Given the description of an element on the screen output the (x, y) to click on. 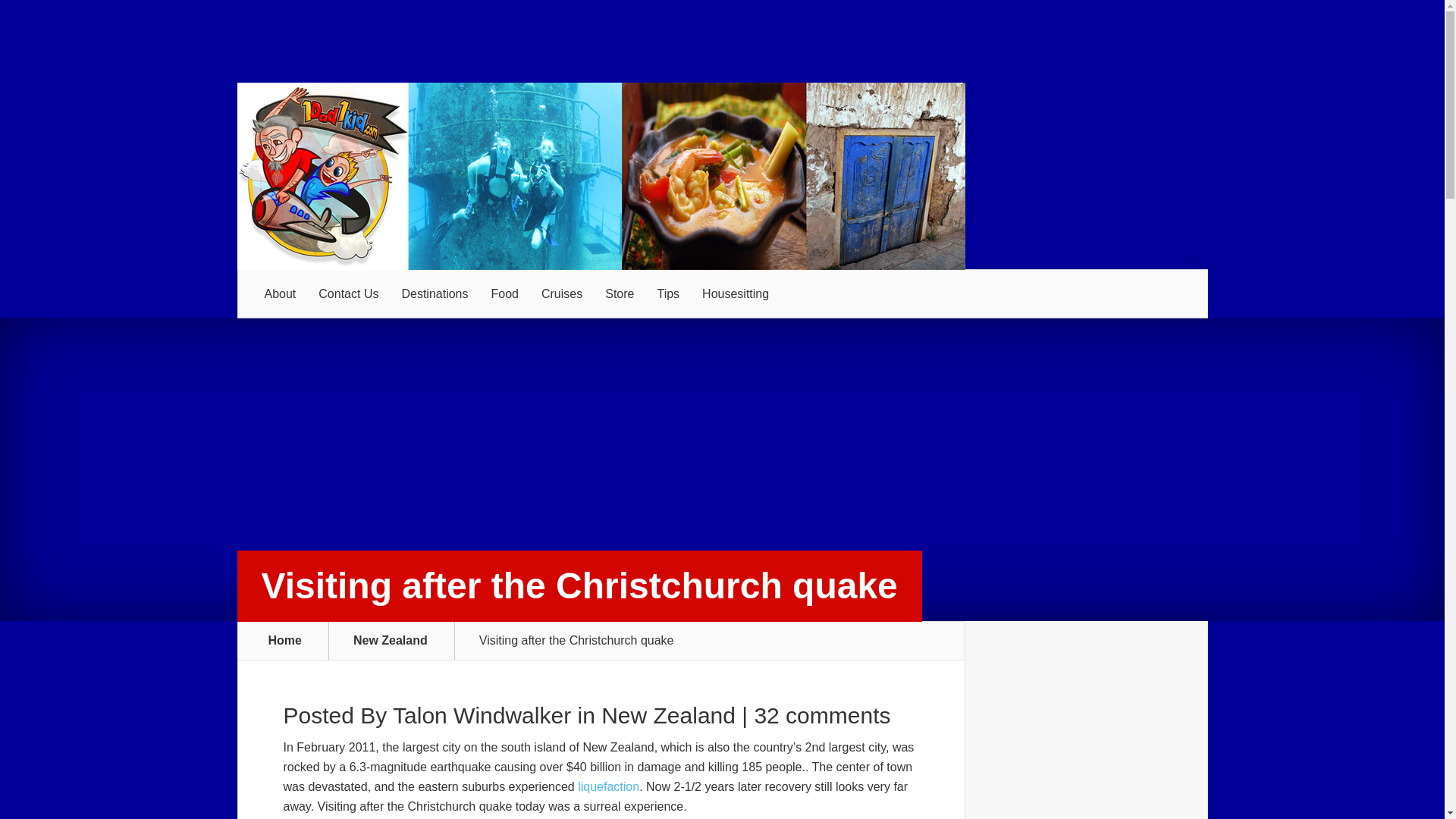
Destinations (434, 294)
Contact Us (348, 294)
Posts by Talon Windwalker (481, 715)
About (280, 294)
